Given the description of an element on the screen output the (x, y) to click on. 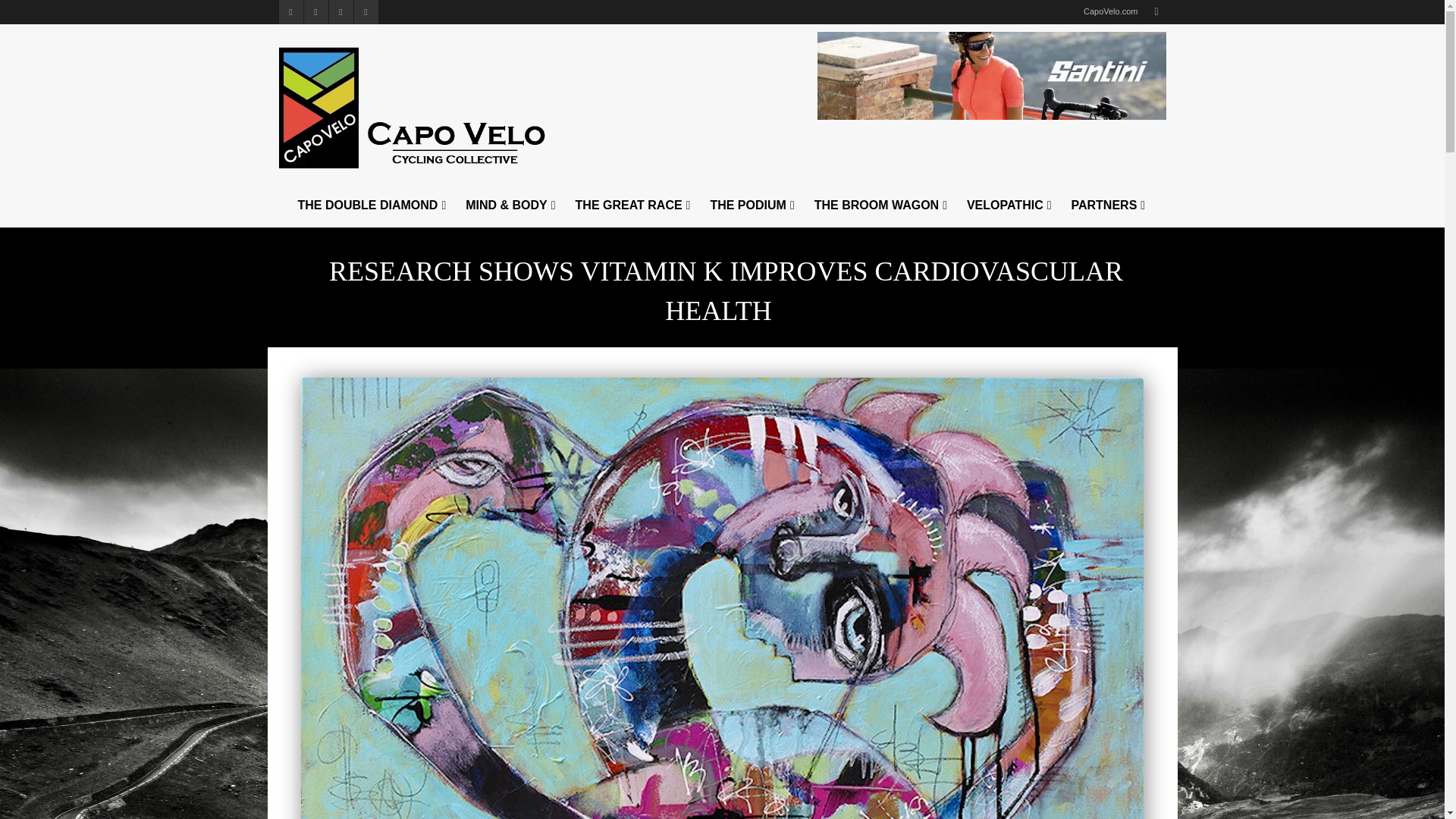
THE GREAT RACE (633, 205)
THE DOUBLE DIAMOND (371, 205)
